Given the description of an element on the screen output the (x, y) to click on. 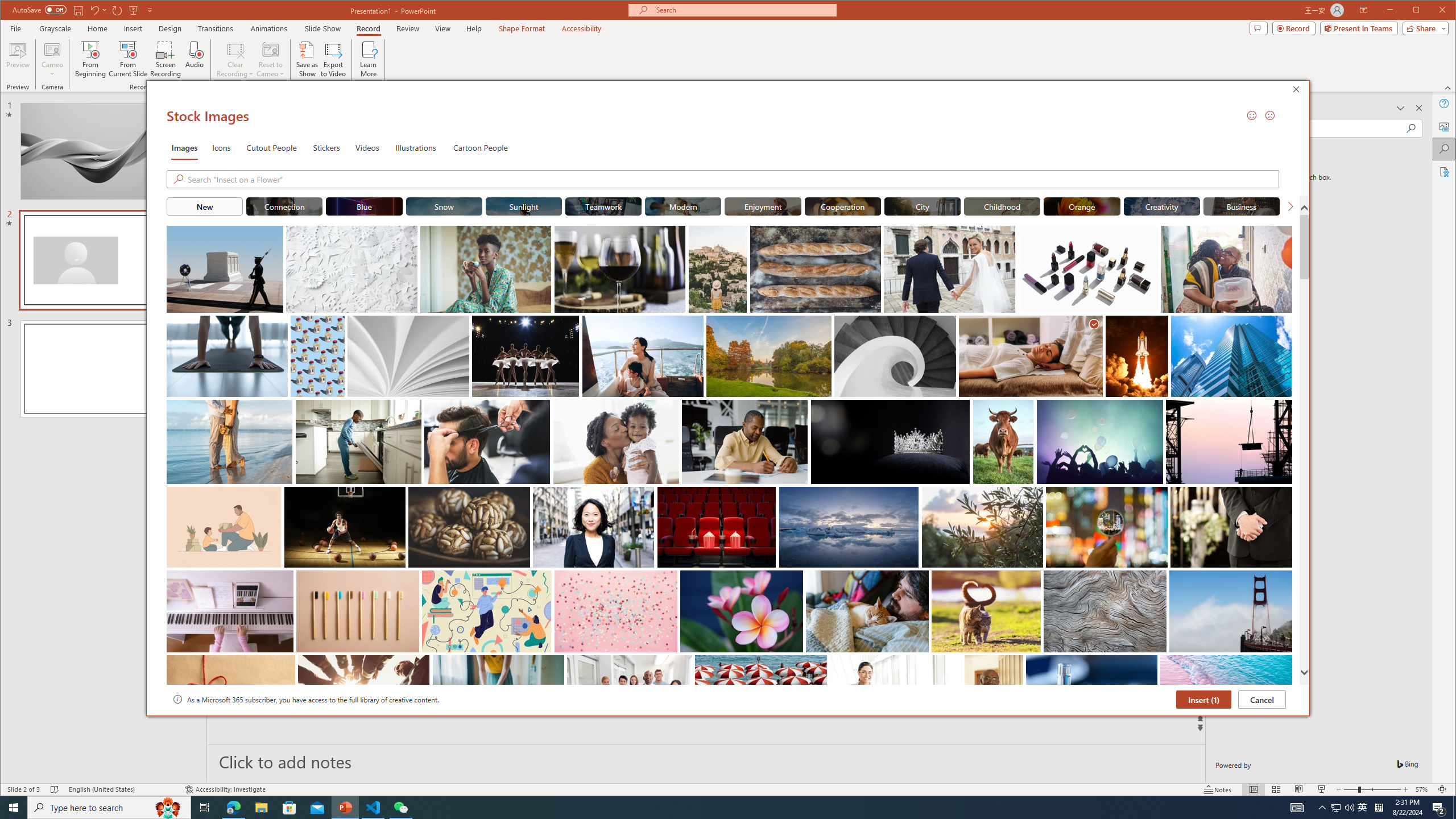
Cartoon People (479, 147)
